Given the description of an element on the screen output the (x, y) to click on. 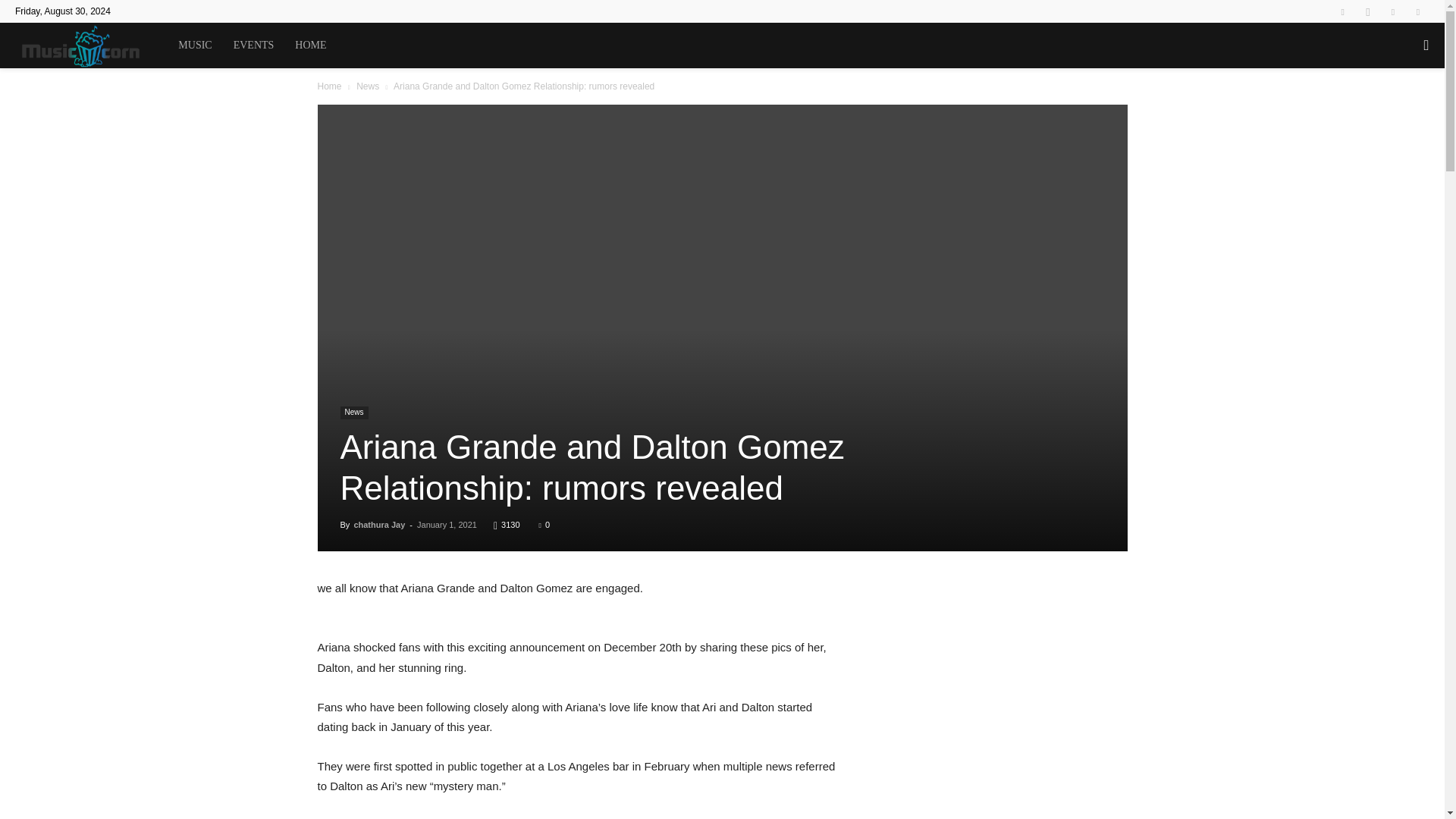
EVENTS (253, 44)
Facebook (1343, 11)
Musiccorn (90, 45)
HOME (309, 44)
0 (544, 524)
Instagram (1367, 11)
News (353, 412)
MUSIC (194, 44)
View all posts in News (367, 86)
Search (1395, 110)
